Given the description of an element on the screen output the (x, y) to click on. 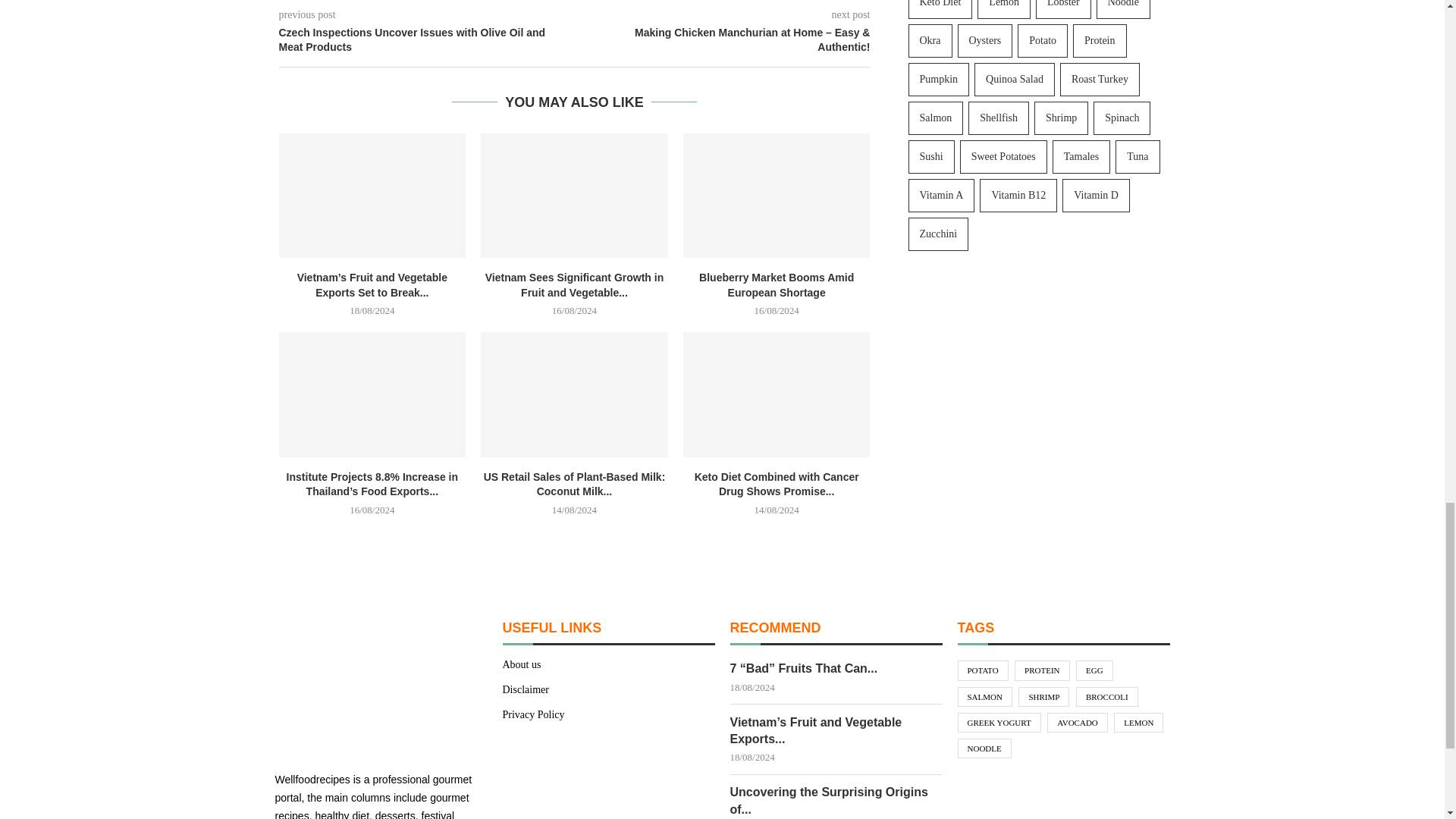
Blueberry Market Booms Amid European Shortage (776, 195)
